Given the description of an element on the screen output the (x, y) to click on. 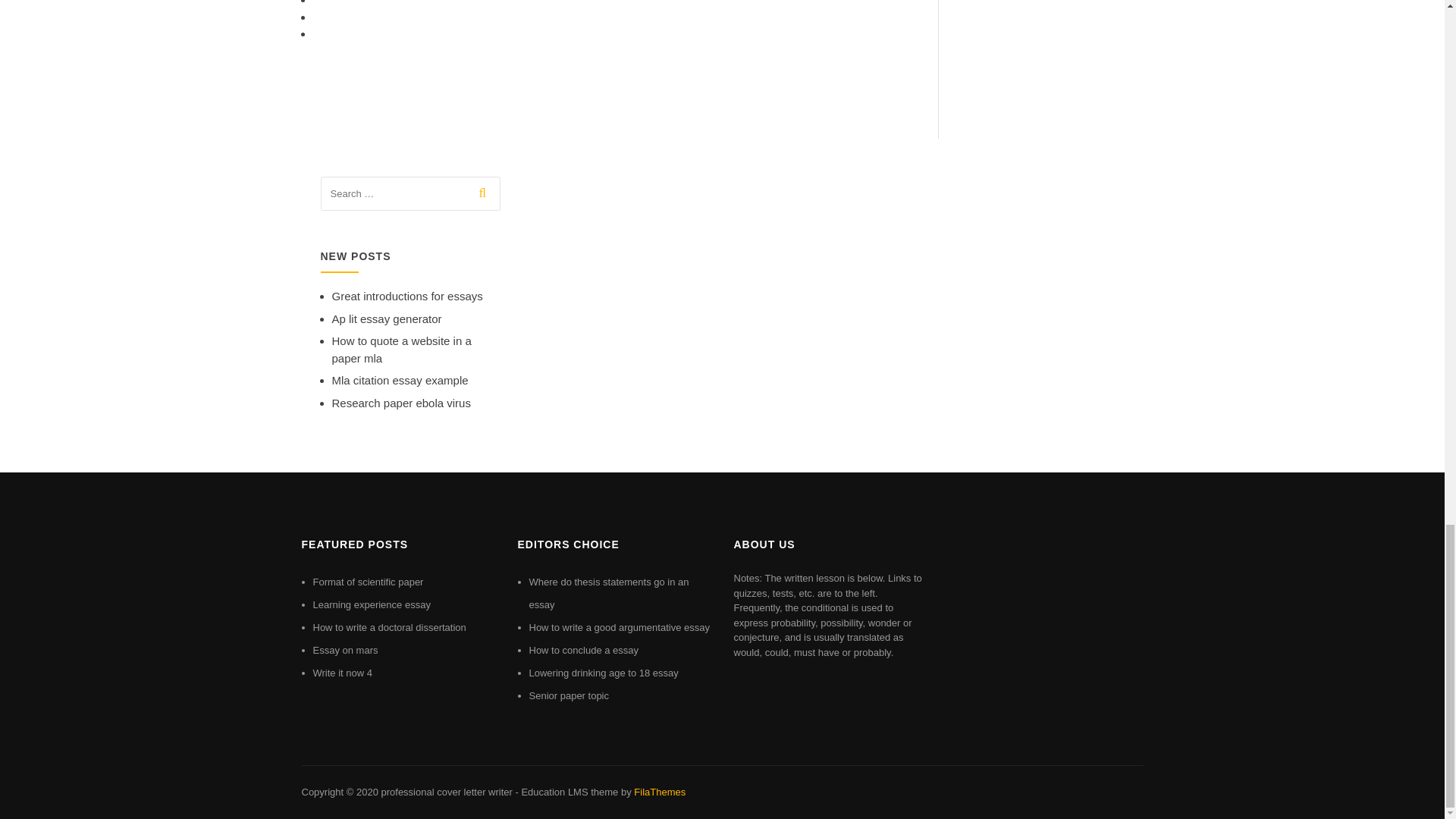
How to write a doctoral dissertation (389, 627)
Essay on mars (345, 650)
Learning experience essay (371, 604)
Research paper ebola virus (400, 402)
Where do thesis statements go in an essay (608, 593)
How to write a good argumentative essay (619, 627)
Senior paper topic (569, 695)
Mla citation essay example (399, 379)
How to conclude a essay (584, 650)
How to quote a website in a paper mla (401, 349)
